Given the description of an element on the screen output the (x, y) to click on. 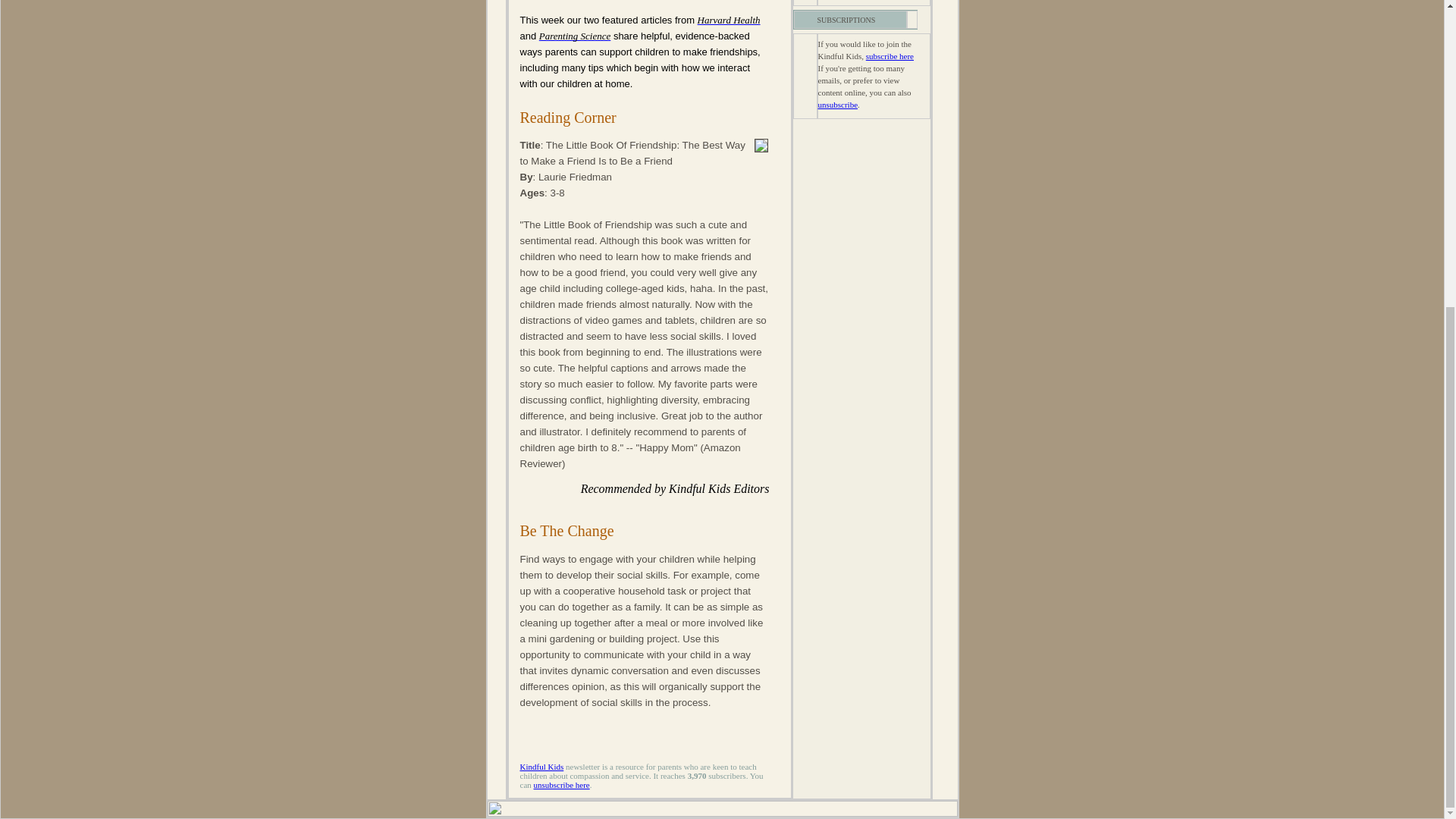
unsubscribe (836, 103)
Kindful Kids (541, 766)
Parenting Science (574, 35)
subscribe here (890, 55)
unsubscribe here (561, 784)
Harvard Health (728, 19)
